Given the description of an element on the screen output the (x, y) to click on. 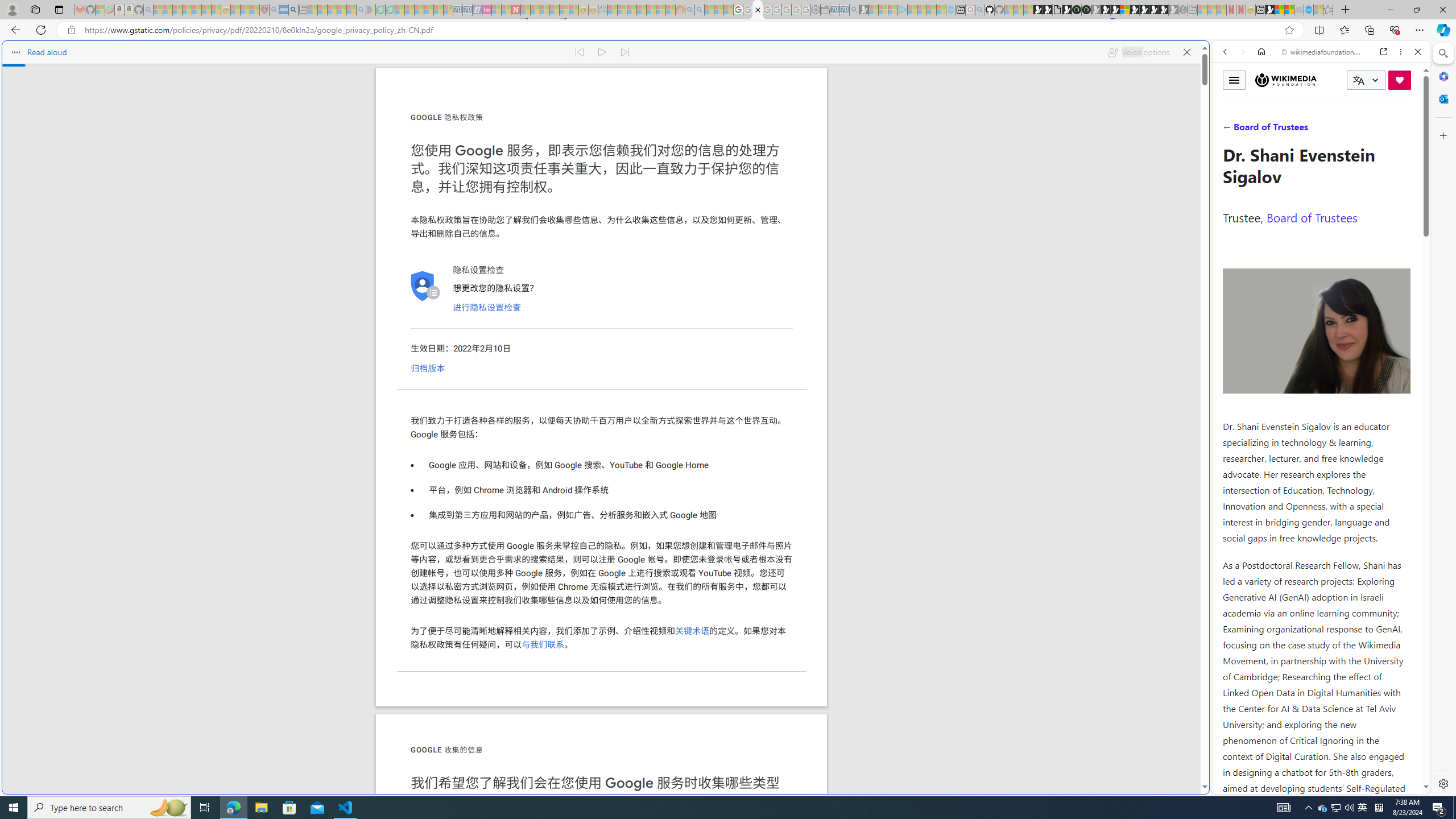
list of asthma inhalers uk - Search - Sleeping (273, 9)
Read previous paragraph (579, 52)
Open link in new tab (1383, 51)
github - Search - Sleeping (979, 9)
VIDEOS (1300, 130)
Continue to read aloud (Ctrl+Shift+U) (602, 52)
Add this page to favorites (Ctrl+D) (1289, 29)
Workspaces (34, 9)
Tab actions menu (58, 9)
